Given the description of an element on the screen output the (x, y) to click on. 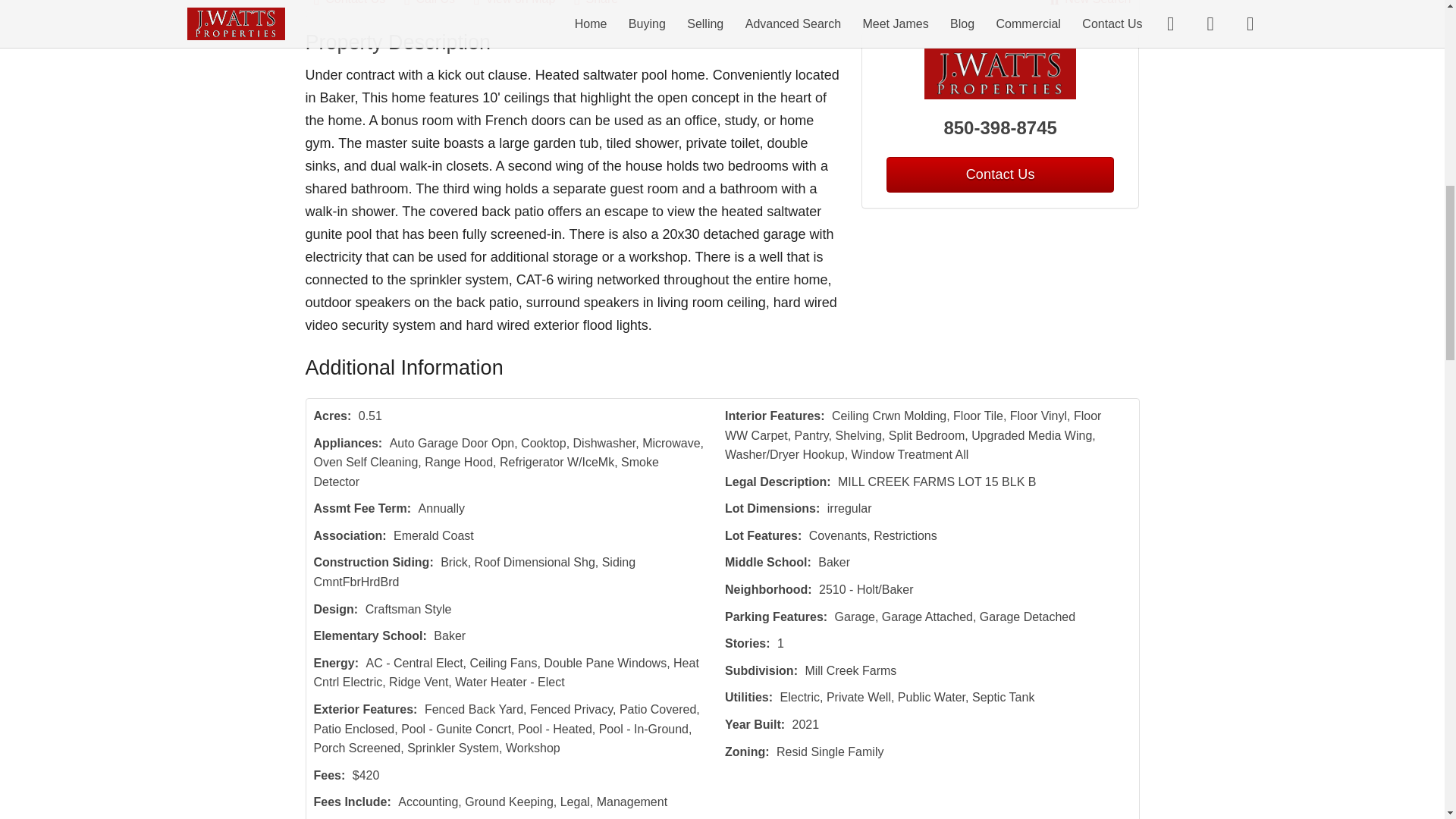
Contact Us (999, 174)
Contact Us (357, 5)
850-398-8745 (1000, 127)
Call Us (437, 5)
New Search (1090, 5)
Share (603, 5)
View on Map (521, 5)
